Given the description of an element on the screen output the (x, y) to click on. 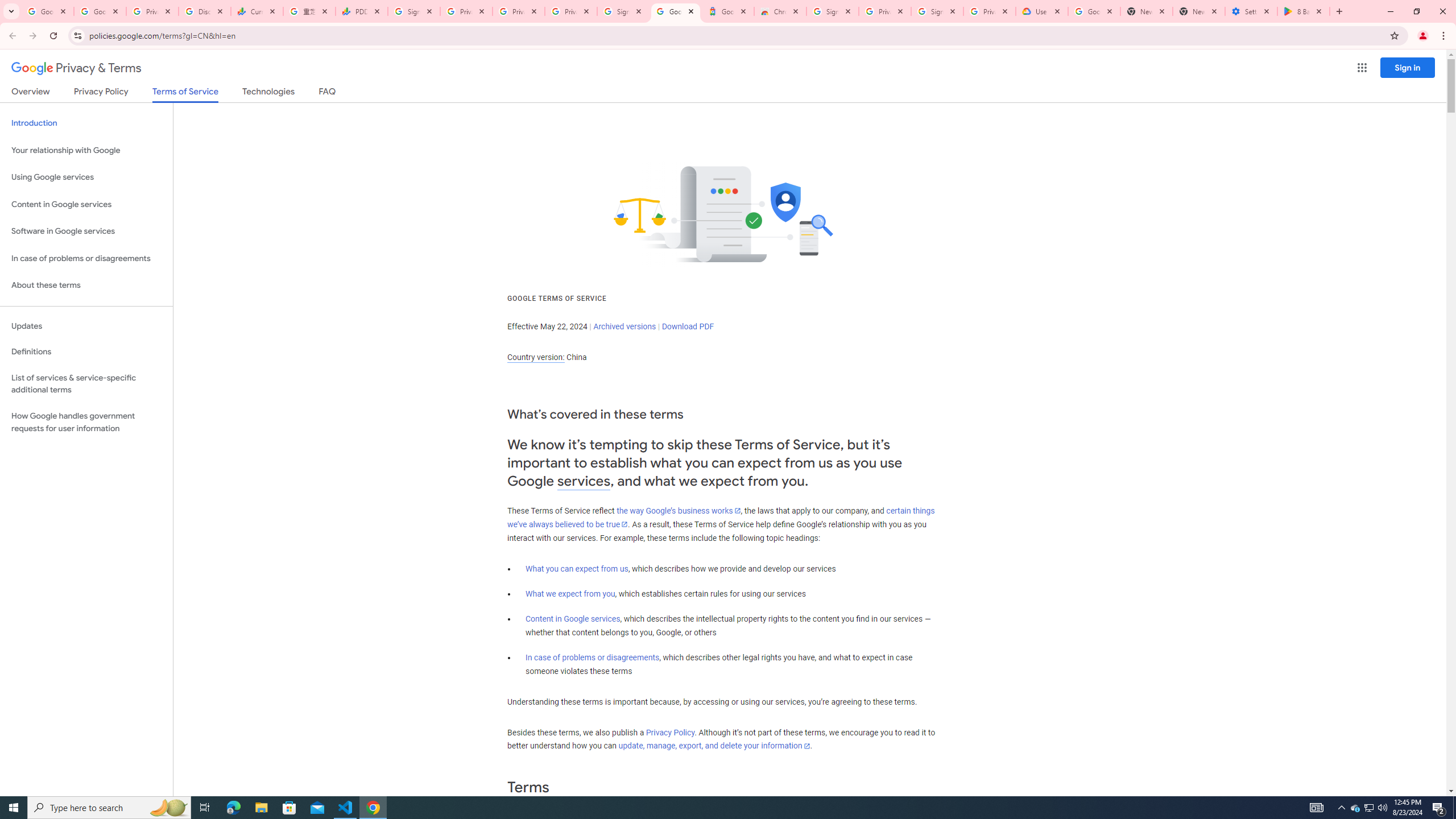
Software in Google services (86, 230)
New Tab (1198, 11)
Sign in - Google Accounts (413, 11)
Sign in - Google Accounts (831, 11)
Sign in - Google Accounts (936, 11)
